Given the description of an element on the screen output the (x, y) to click on. 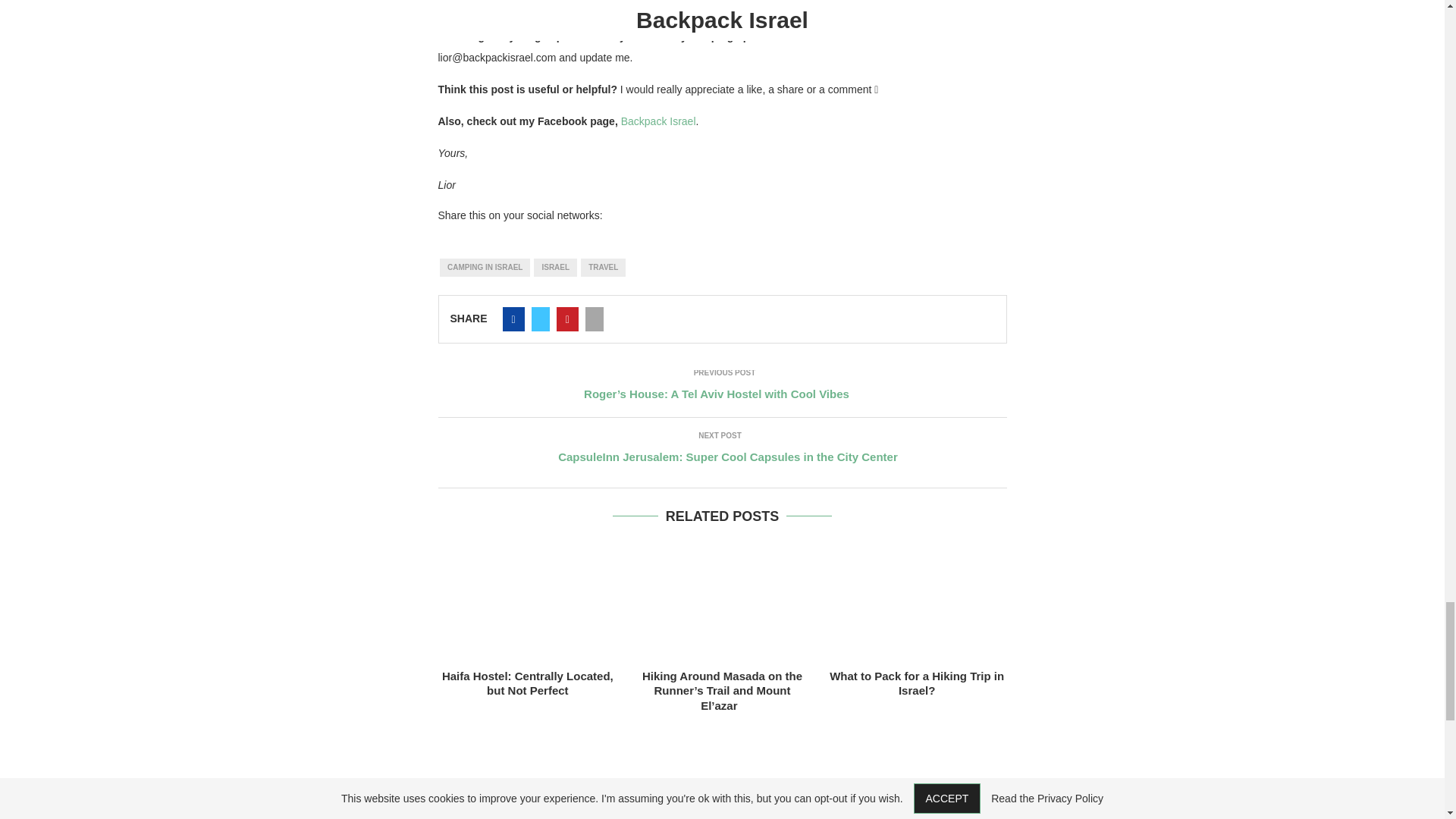
Backpack Israel (658, 121)
CAMPING IN ISRAEL (484, 267)
TRAVEL (603, 267)
ISRAEL (555, 267)
